Given the description of an element on the screen output the (x, y) to click on. 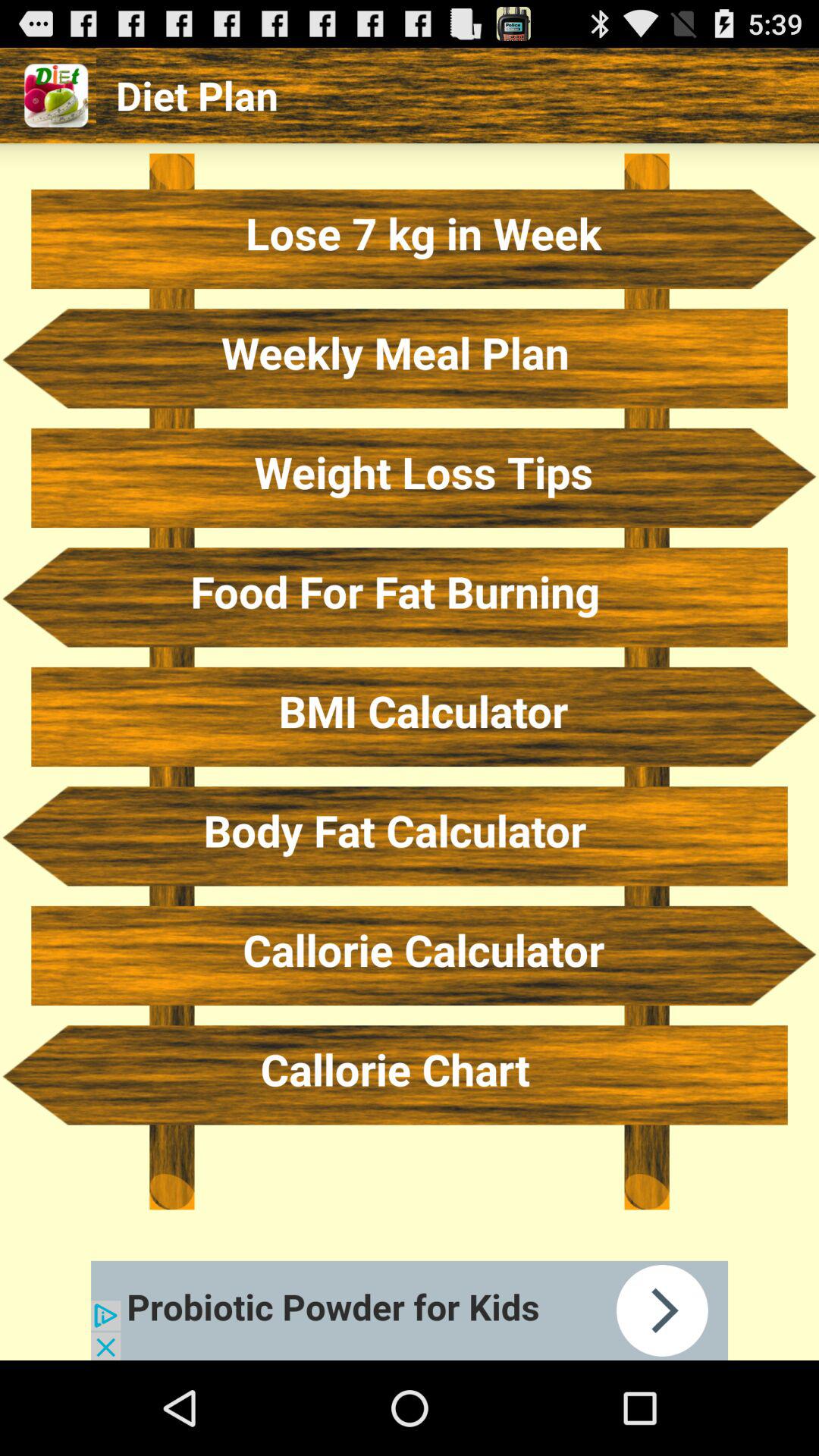
advertisement page (409, 1310)
